Given the description of an element on the screen output the (x, y) to click on. 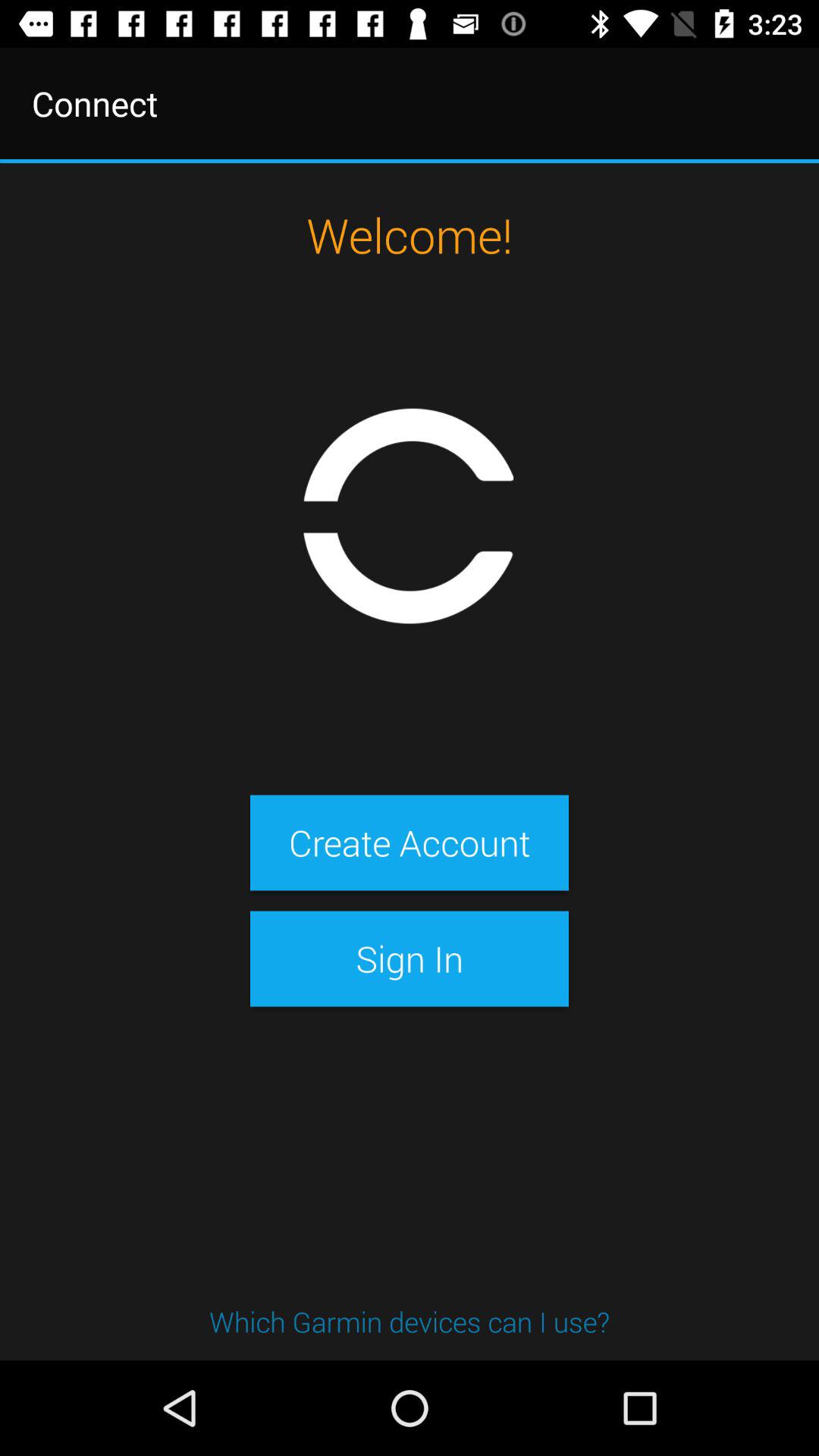
choose the sign in (409, 958)
